Given the description of an element on the screen output the (x, y) to click on. 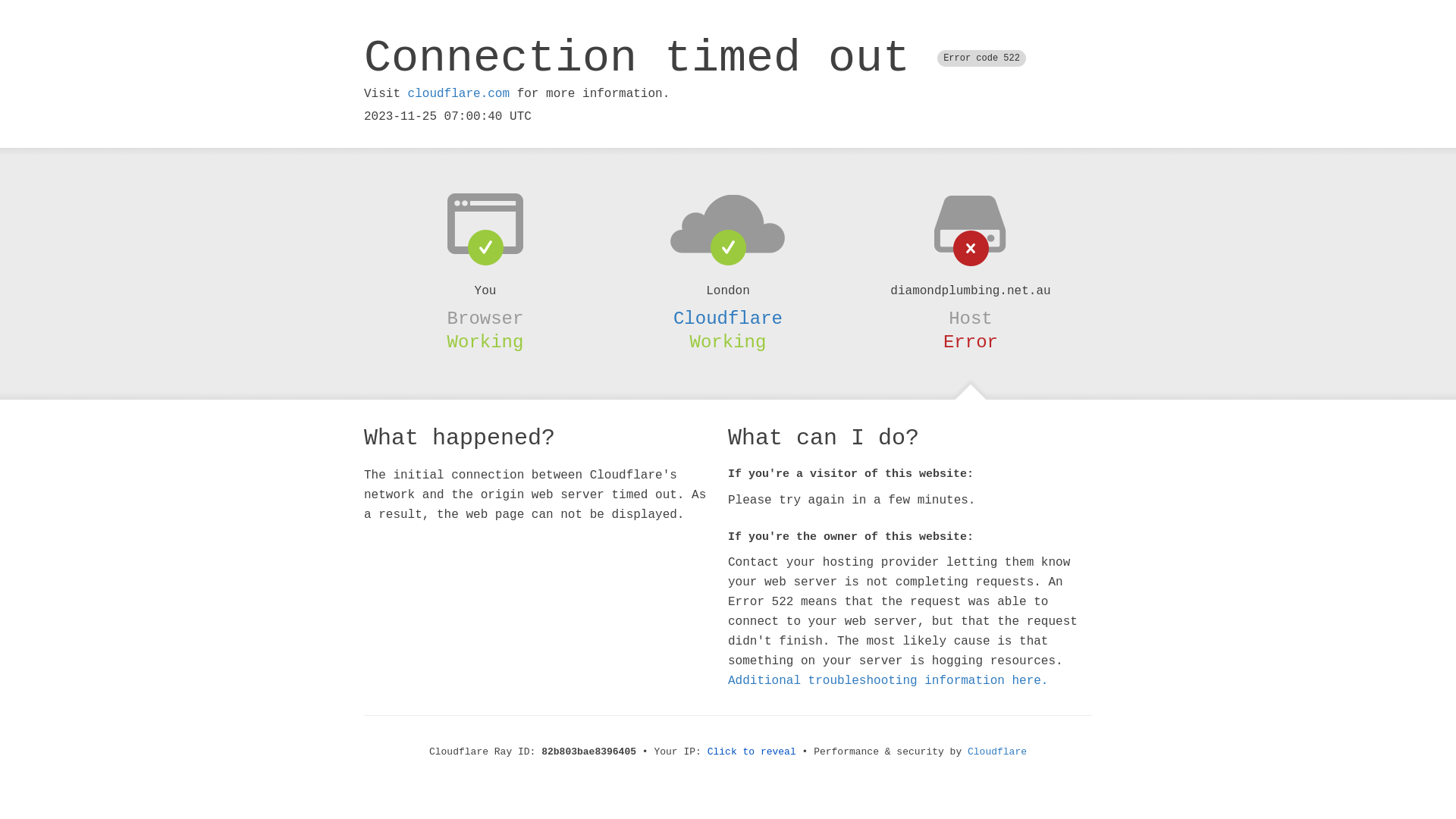
Click to reveal Element type: text (751, 751)
Cloudflare Element type: text (727, 318)
cloudflare.com Element type: text (458, 93)
Cloudflare Element type: text (996, 751)
Additional troubleshooting information here. Element type: text (888, 680)
